Given the description of an element on the screen output the (x, y) to click on. 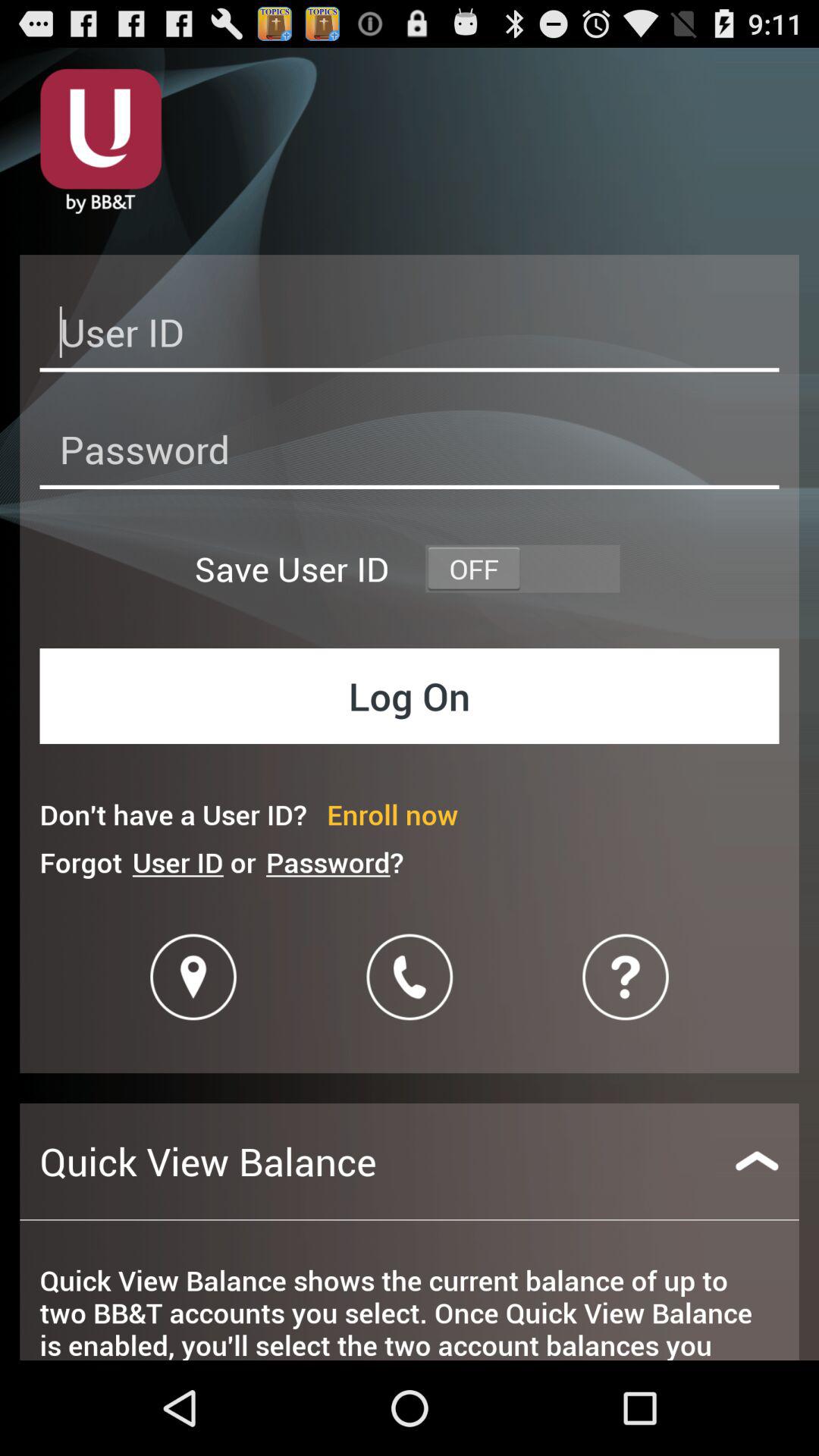
launch the icon below the save user id item (409, 695)
